Given the description of an element on the screen output the (x, y) to click on. 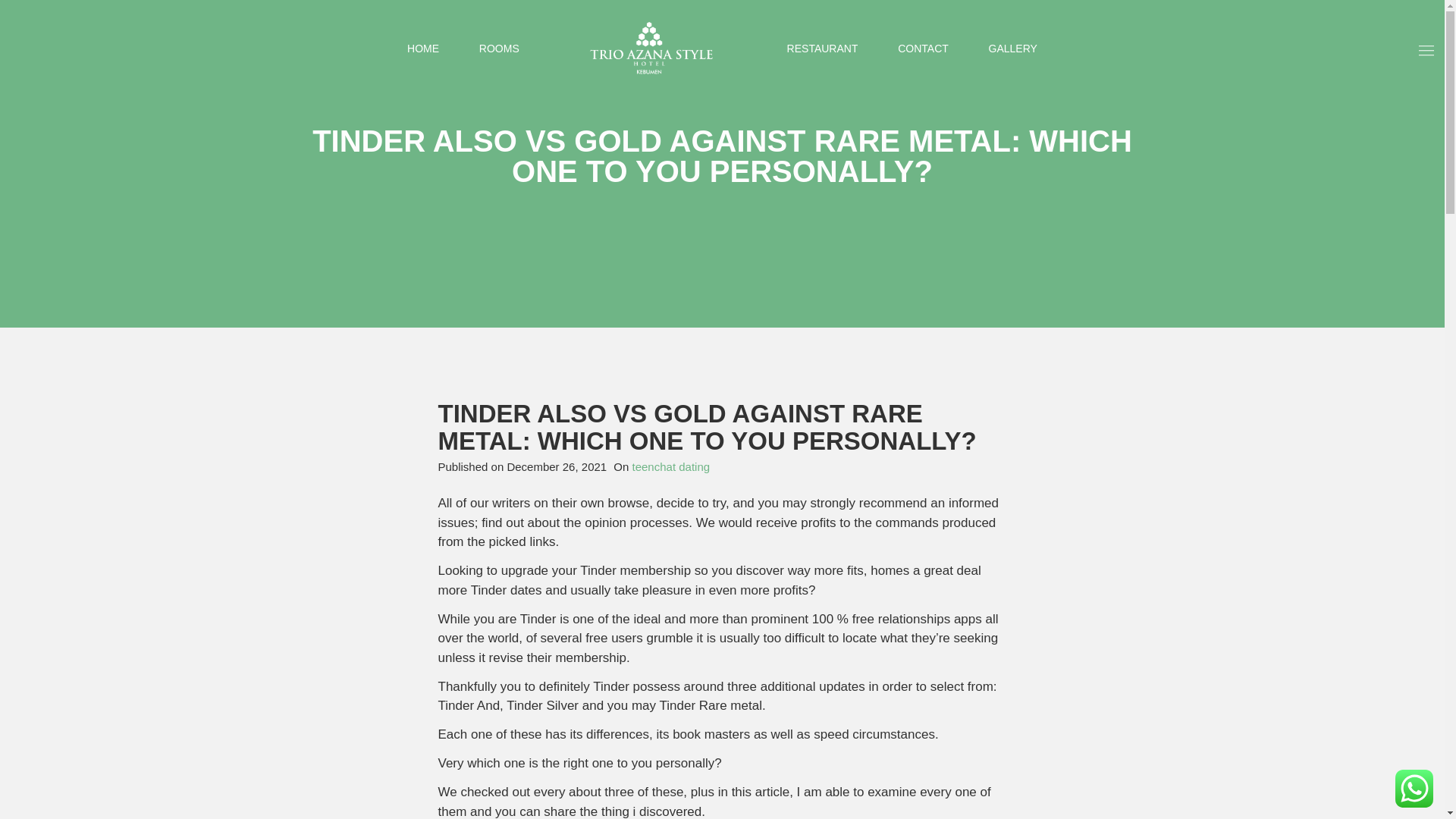
Home (423, 48)
RESTAURANT (823, 48)
Contact (923, 48)
Rooms (499, 48)
HOME (423, 48)
View all posts in category: teenchat dating (670, 466)
GALLERY (1012, 48)
teenchat dating (670, 466)
ROOMS (499, 48)
Restaurant (823, 48)
